Given the description of an element on the screen output the (x, y) to click on. 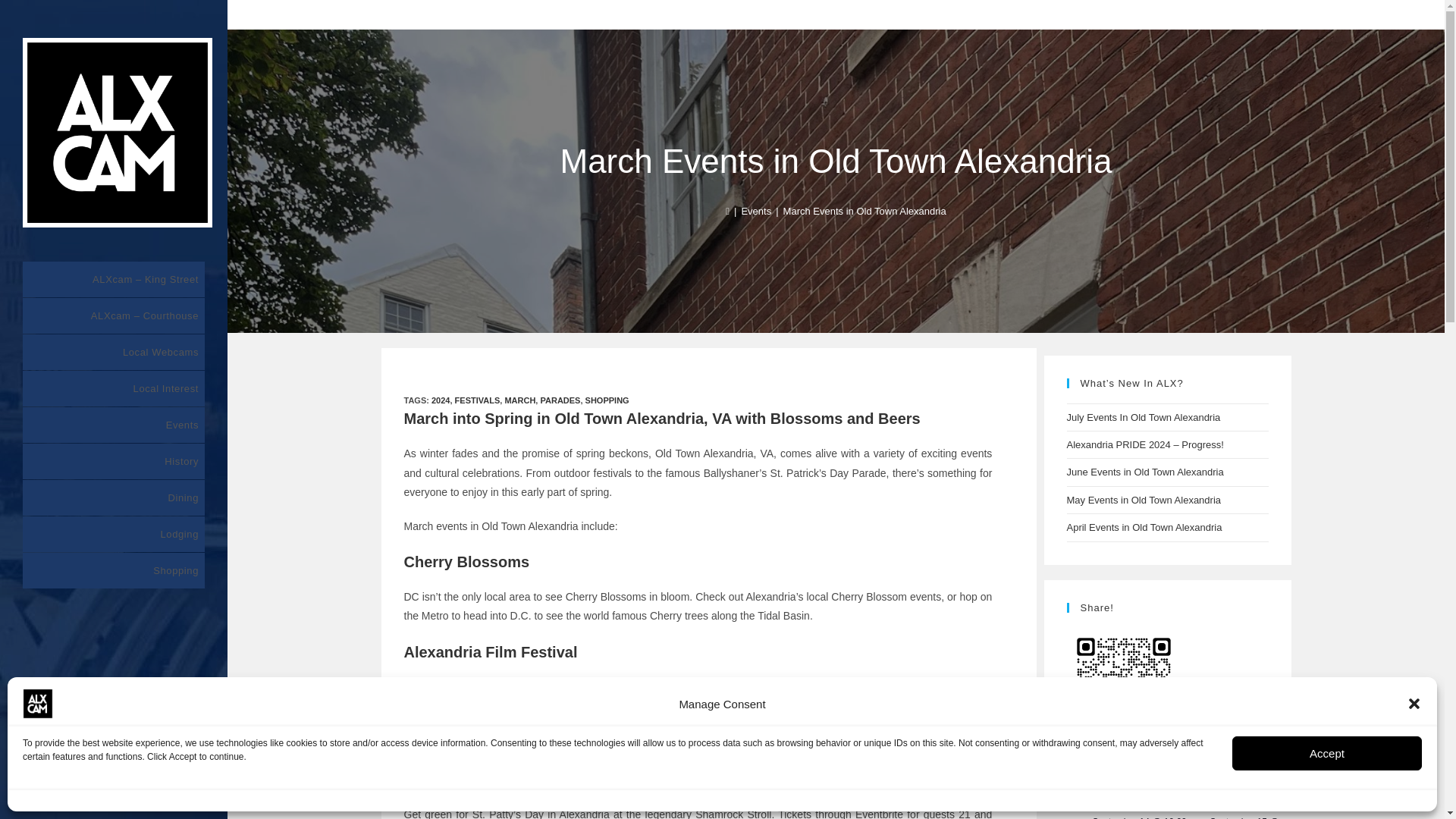
MARCH (519, 399)
PARADES (559, 399)
History (114, 461)
Events (756, 211)
Old Town Blog (393, 13)
Discover Old Town (264, 13)
Local Interest (114, 388)
March Events in Old Town Alexandria (864, 211)
Shopping (114, 570)
Advertise (333, 13)
Dining (114, 497)
2024 (439, 399)
FESTIVALS (477, 399)
Local Webcams (114, 352)
Share! (1122, 685)
